Given the description of an element on the screen output the (x, y) to click on. 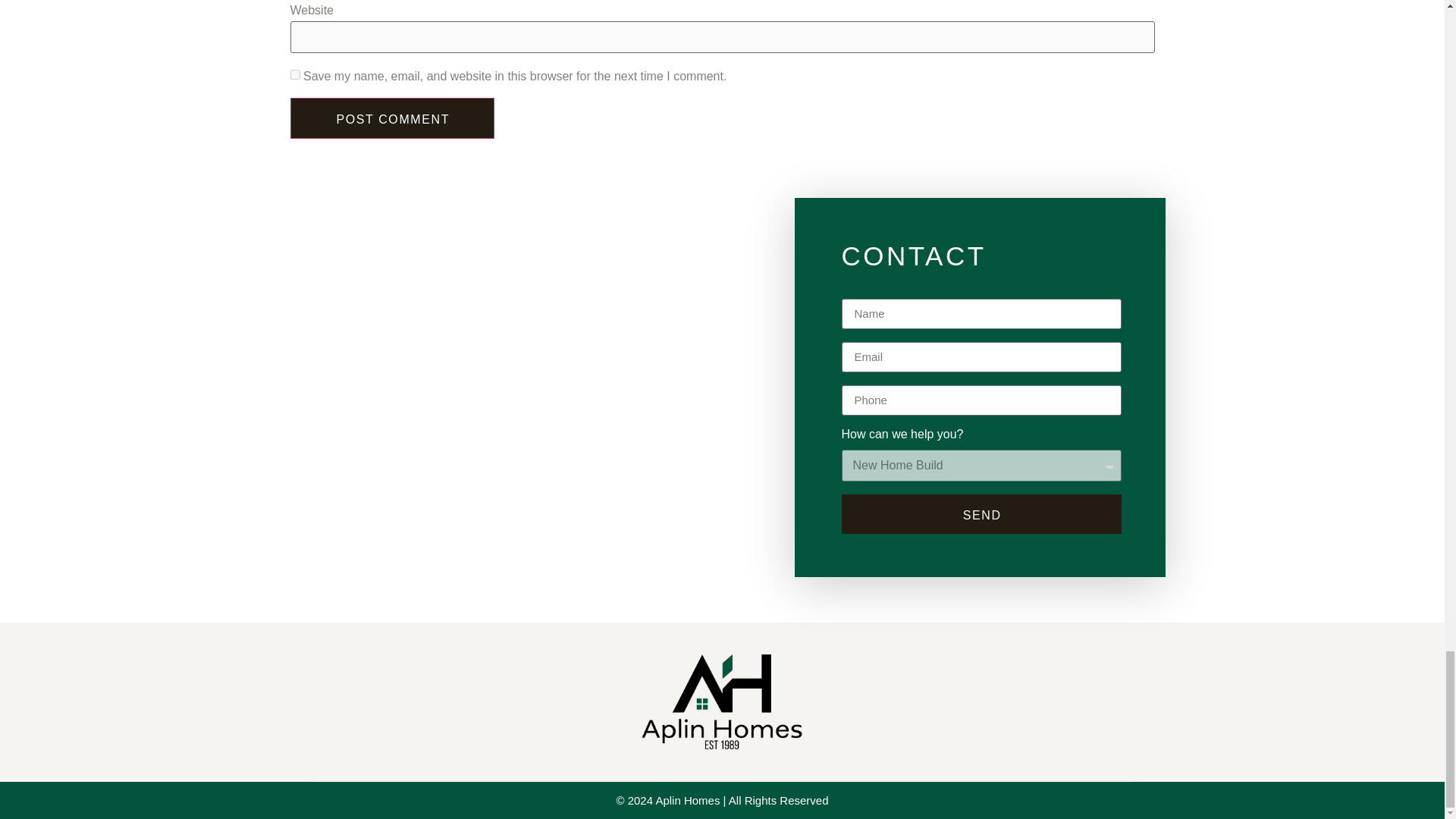
SEND (981, 513)
yes (294, 74)
207 That Way St. Ste. A2 Lake Jackson, TX 77566 (512, 453)
Post Comment (392, 117)
Post Comment (392, 117)
